Given the description of an element on the screen output the (x, y) to click on. 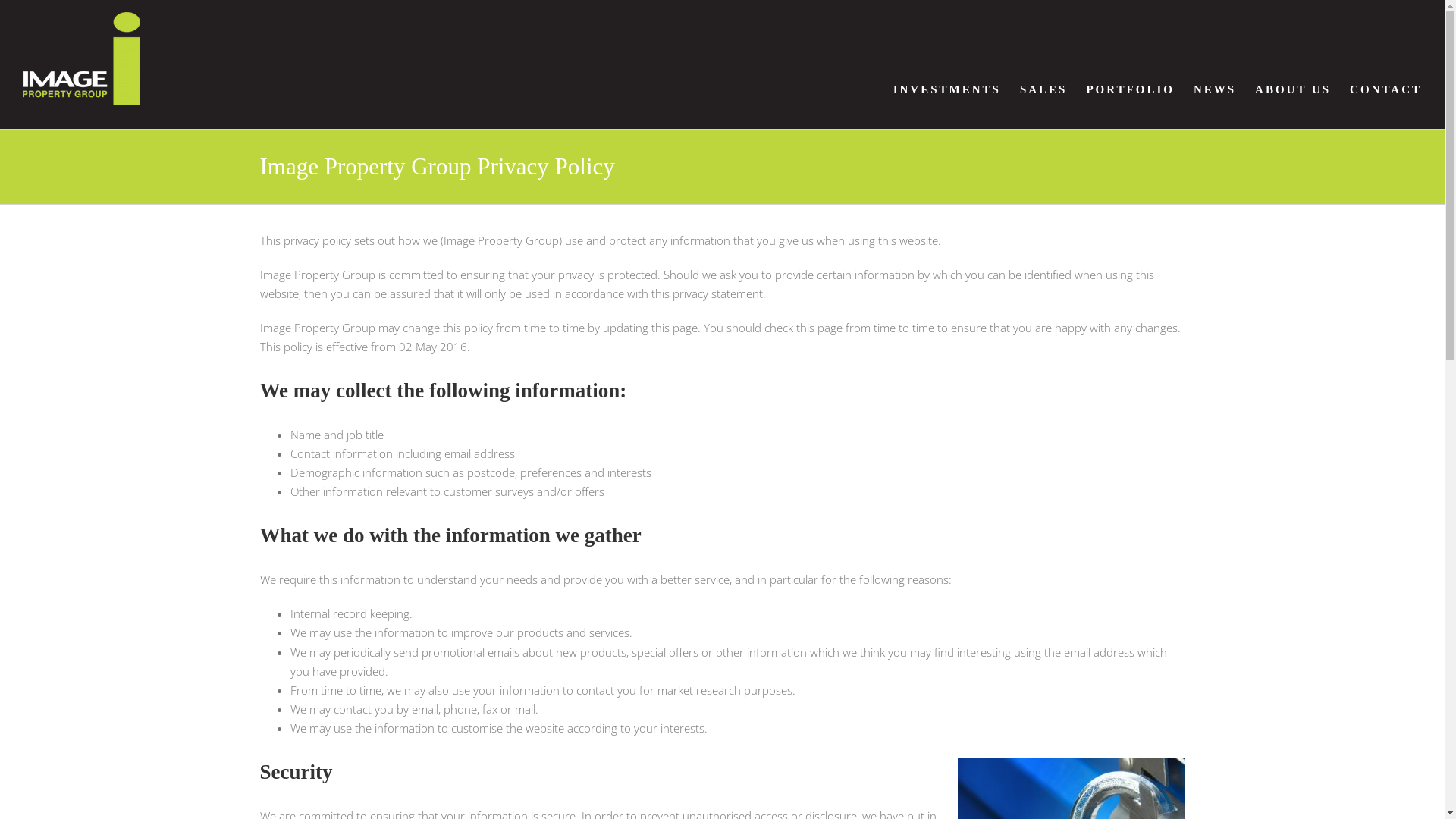
CONTACT Element type: text (1385, 89)
SALES Element type: text (1043, 89)
ABOUT US Element type: text (1292, 89)
INVESTMENTS Element type: text (947, 89)
PORTFOLIO Element type: text (1129, 89)
NEWS Element type: text (1214, 89)
